Given the description of an element on the screen output the (x, y) to click on. 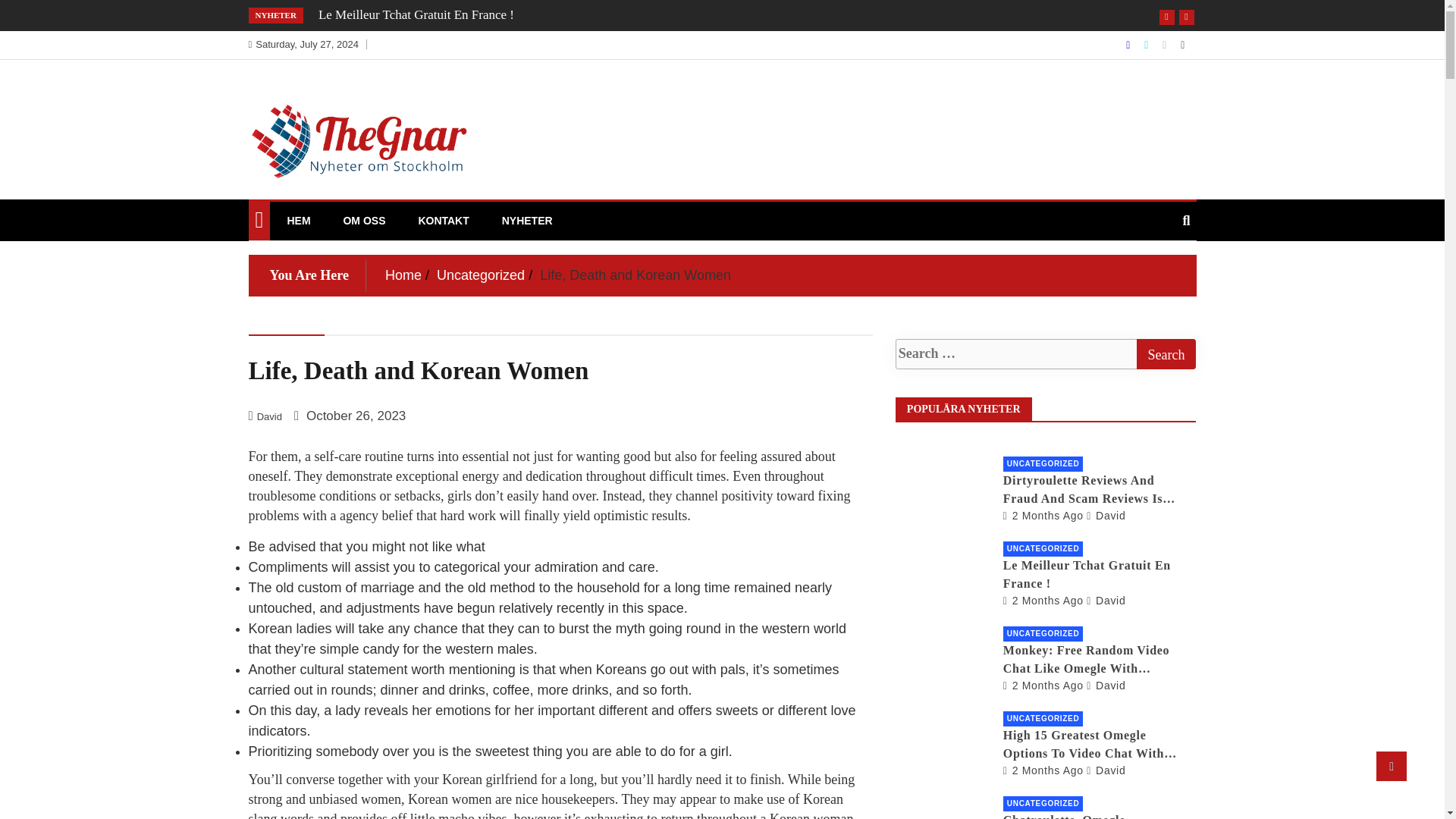
Search (1165, 354)
KONTAKT (443, 220)
OM OSS (363, 220)
HEM (298, 220)
Uncategorized (480, 274)
Le Meilleur Tchat Gratuit En France ! (415, 14)
Monkey: Free Random Video Chat Like Omegle With Strangers (1043, 685)
Le Meilleur Tchat Gratuit En France ! (1043, 600)
Home (403, 274)
Search (1165, 354)
NYHETER (527, 220)
